Given the description of an element on the screen output the (x, y) to click on. 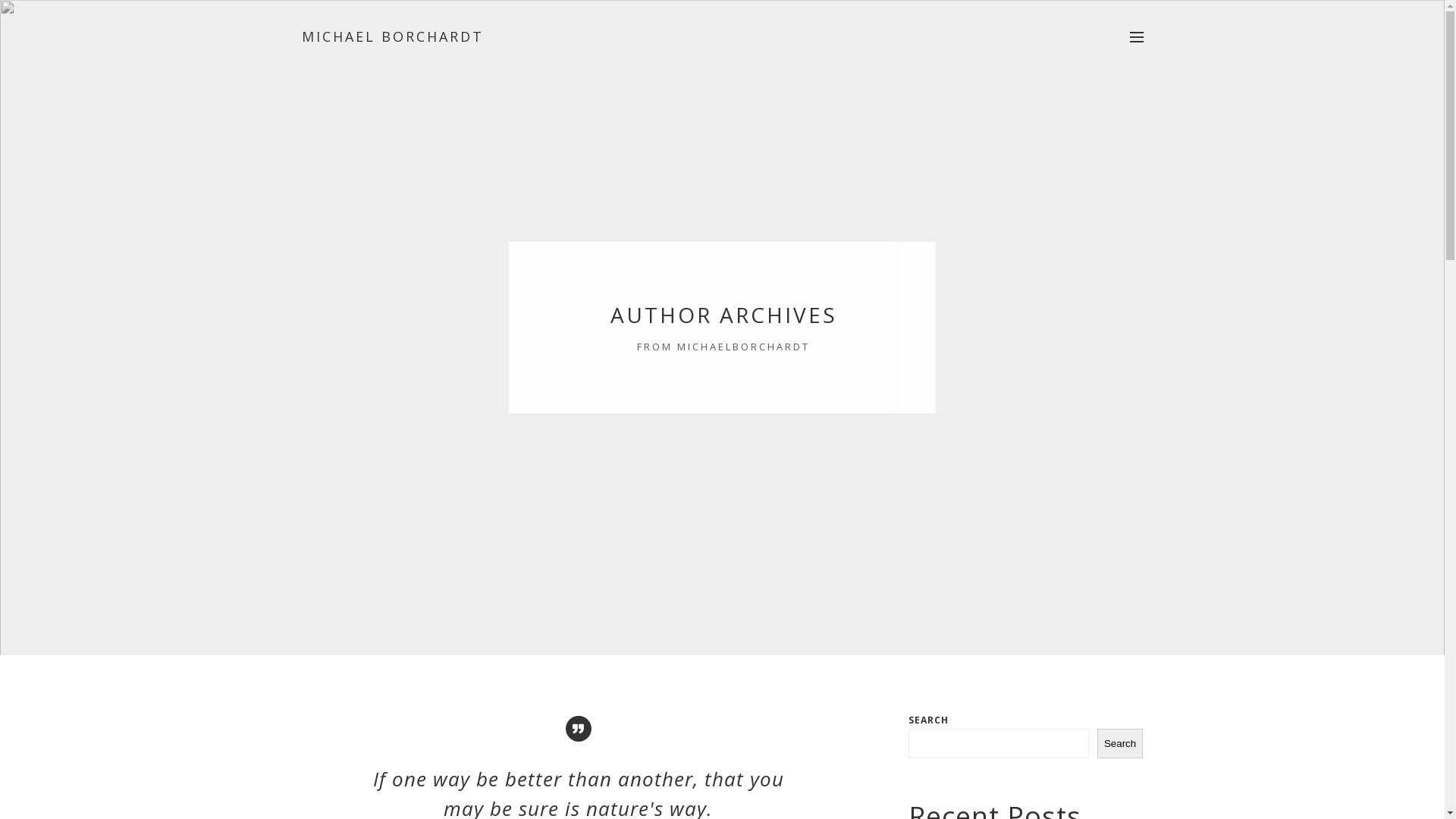
MICHAEL BORCHARDT Element type: text (392, 36)
Search Element type: text (1120, 743)
